Given the description of an element on the screen output the (x, y) to click on. 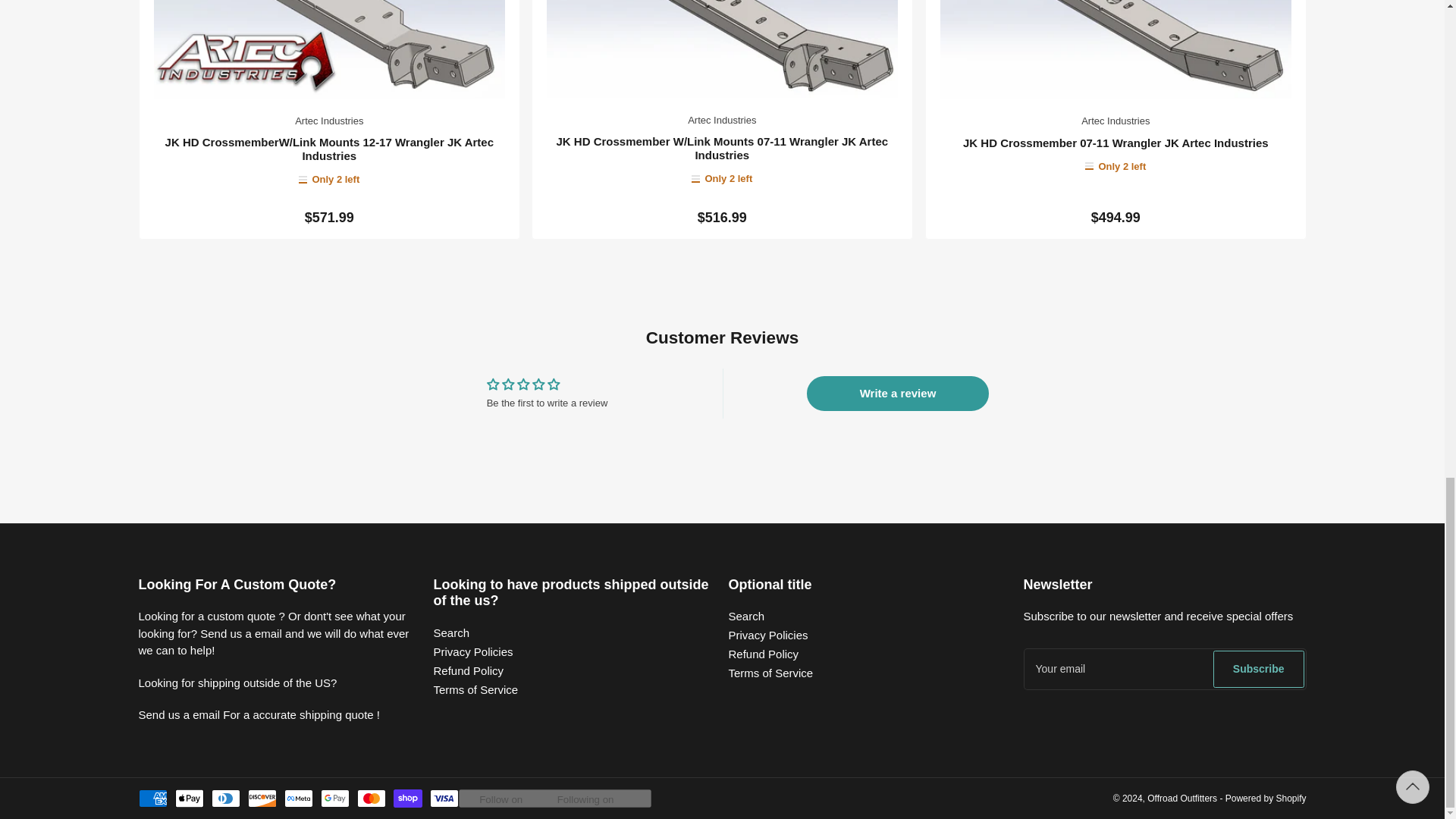
Artec Industries (1115, 120)
Artec Industries (328, 120)
Artec Industries (721, 120)
